Given the description of an element on the screen output the (x, y) to click on. 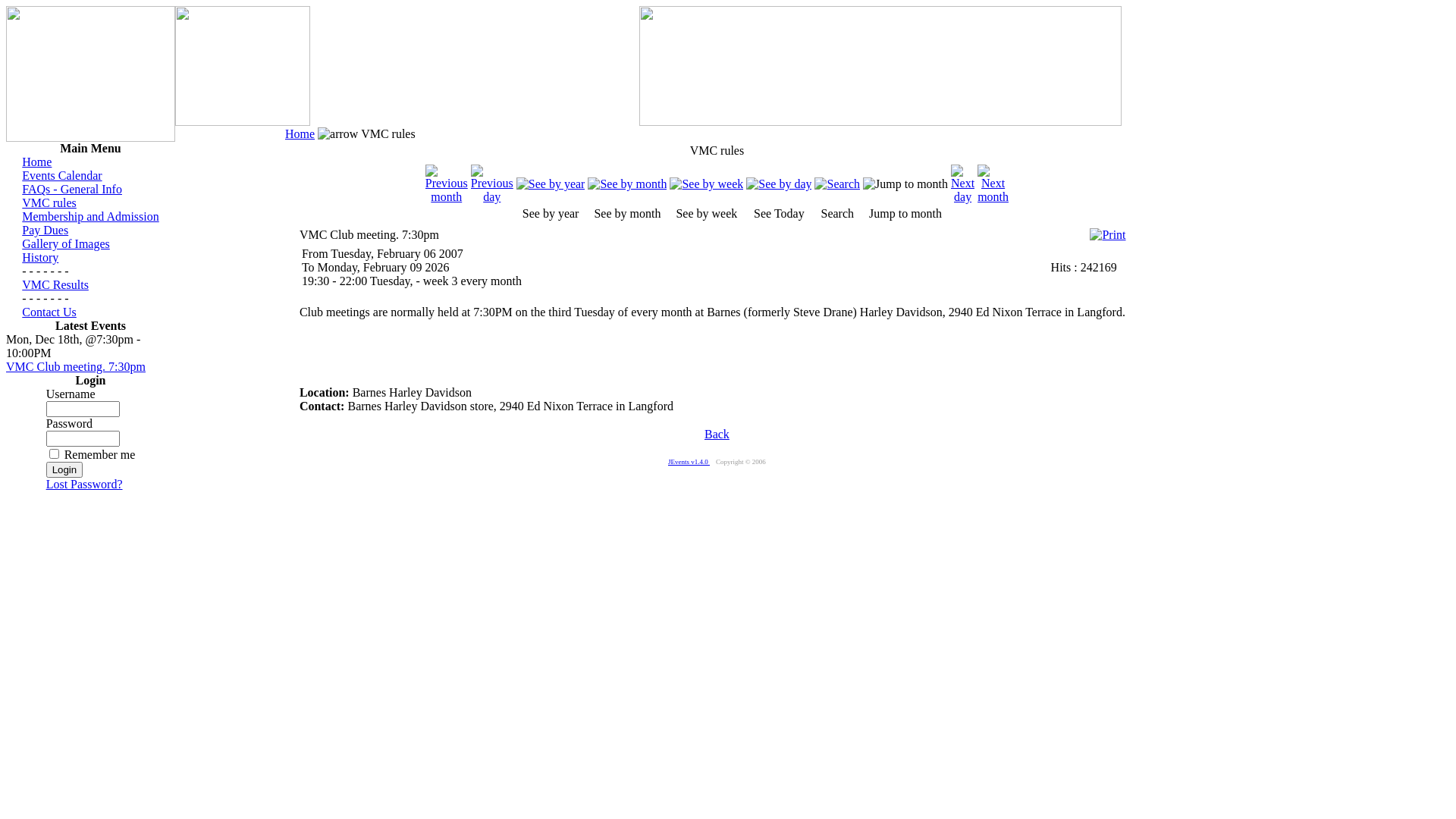
See by month Element type: hover (626, 183)
Jump to month Element type: hover (904, 183)
Home Element type: text (299, 133)
Lost Password? Element type: text (84, 483)
FAQs - General Info Element type: text (71, 188)
Gallery of Images Element type: text (65, 243)
See Today Element type: hover (778, 183)
Previous month Element type: hover (446, 196)
Print Element type: hover (1107, 230)
Next month Element type: hover (992, 196)
See by year Element type: hover (550, 183)
Events Calendar Element type: text (61, 175)
Home Element type: text (36, 161)
Contact Us Element type: text (48, 311)
Previous day Element type: hover (491, 196)
See by week Element type: hover (706, 183)
Membership and Admission Element type: text (89, 216)
History Element type: text (39, 257)
Search Element type: hover (836, 183)
Login Element type: text (64, 469)
VMC Club meeting. 7:30pm Element type: text (75, 366)
Pay Dues Element type: text (44, 229)
Back Element type: text (716, 433)
VMC rules Element type: text (48, 202)
JEvents v1.4.0 Element type: text (688, 461)
VMC Results Element type: text (54, 284)
Next day Element type: hover (962, 196)
